Given the description of an element on the screen output the (x, y) to click on. 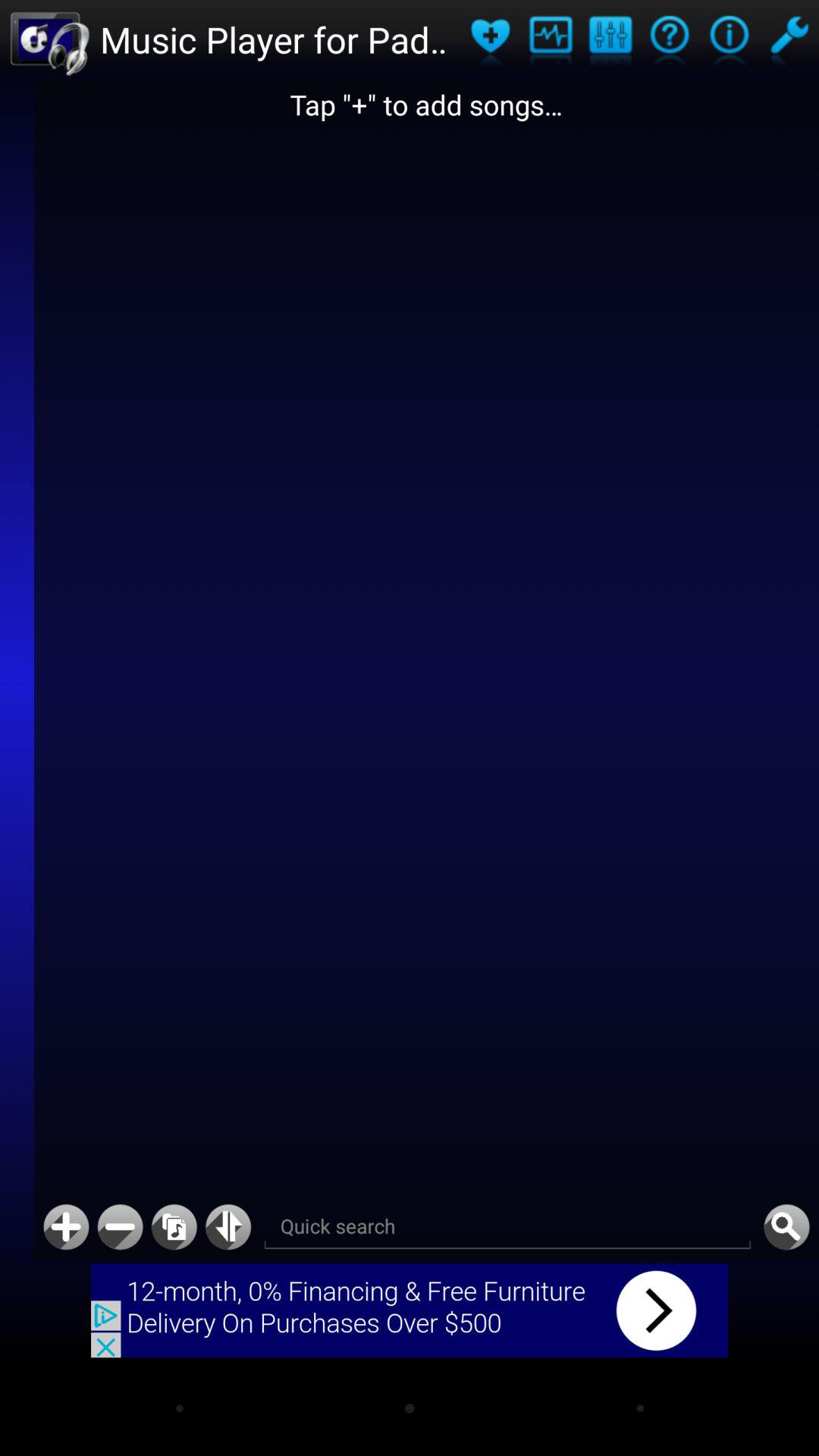
advertisement click (409, 1310)
